Given the description of an element on the screen output the (x, y) to click on. 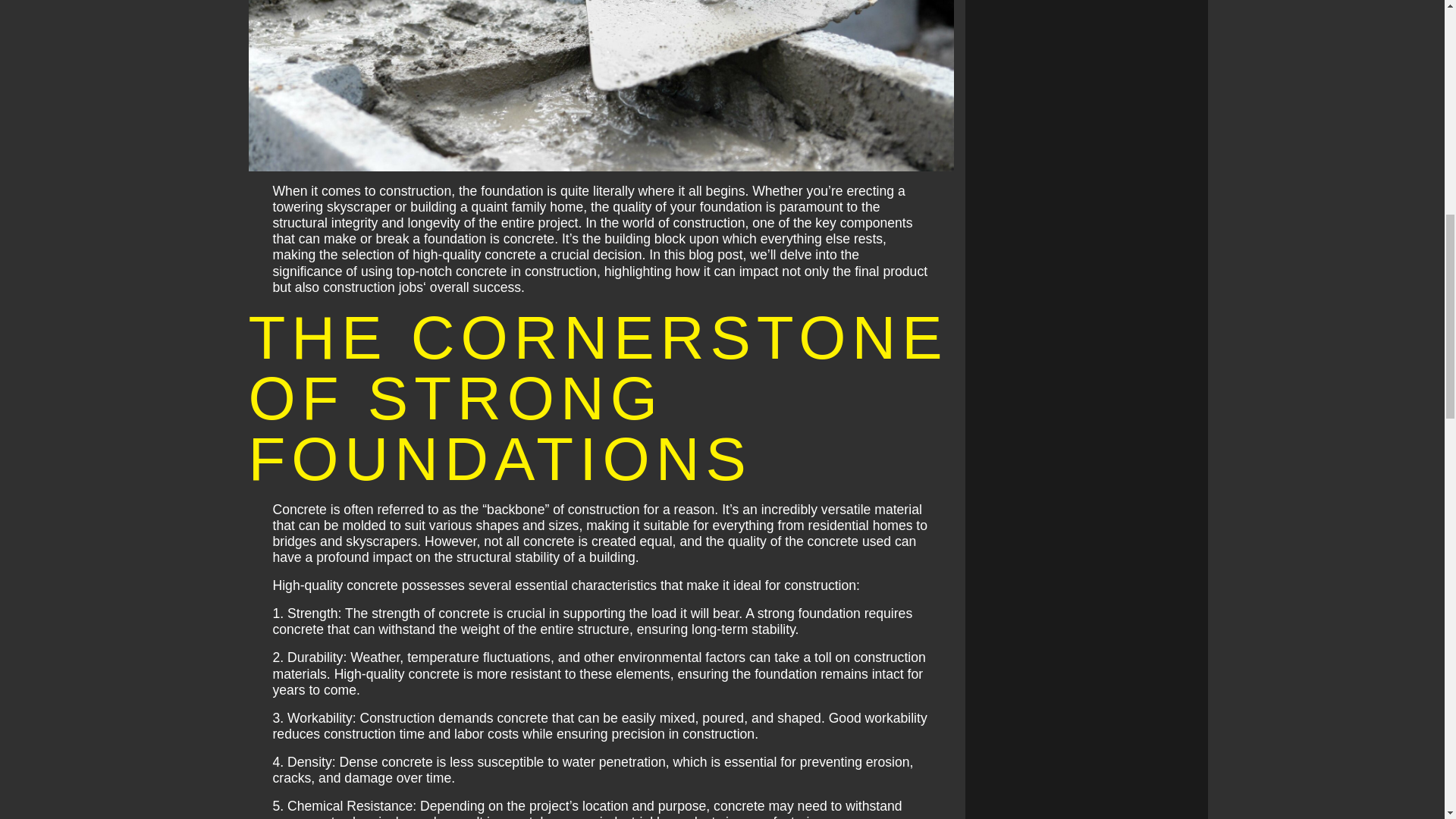
construction jobs (373, 287)
load it will bear (694, 613)
